Given the description of an element on the screen output the (x, y) to click on. 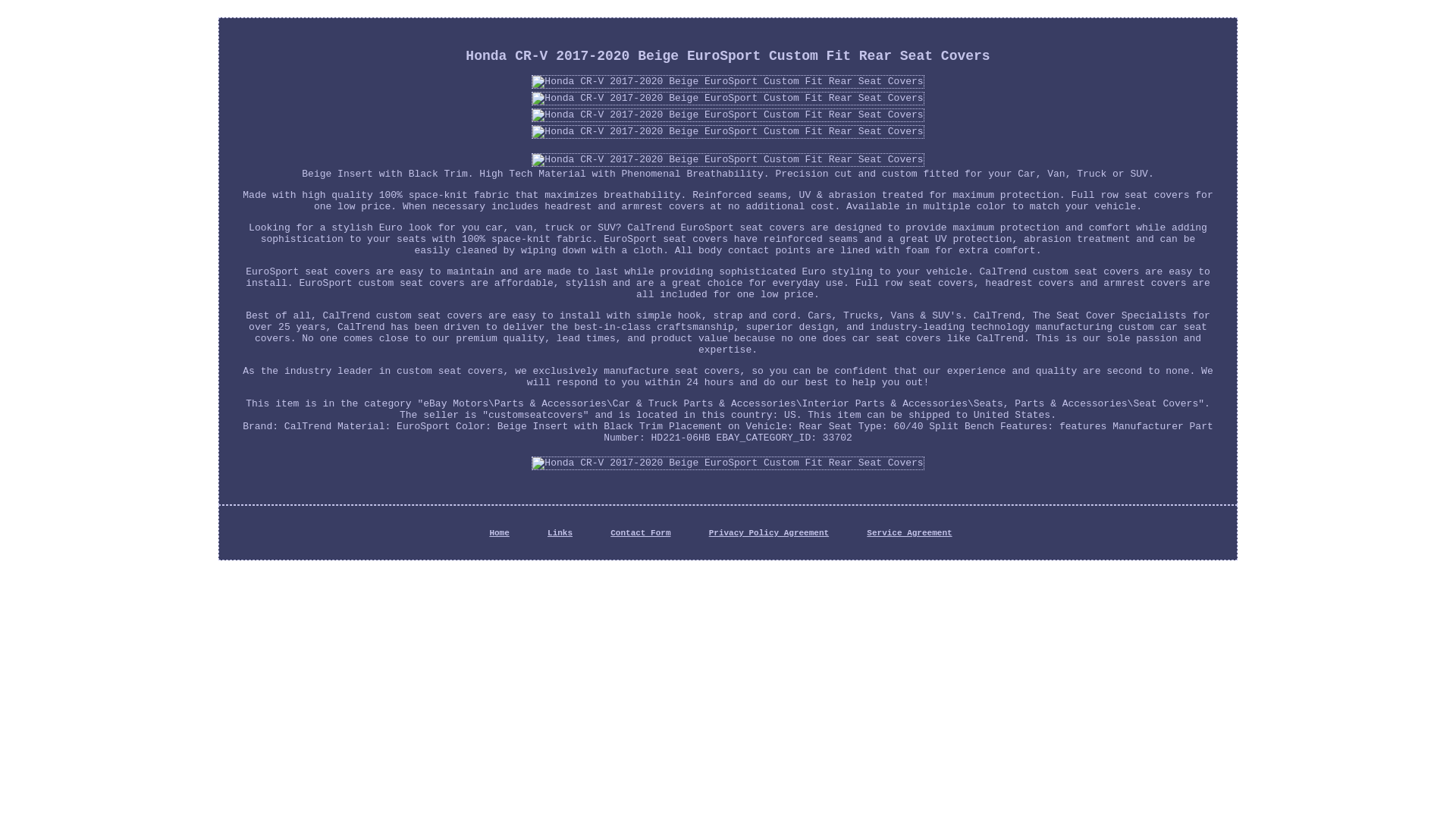
Privacy Policy Agreement (768, 532)
Links (559, 532)
Contact Form (639, 532)
Service Agreement (909, 532)
Home (498, 532)
